Given the description of an element on the screen output the (x, y) to click on. 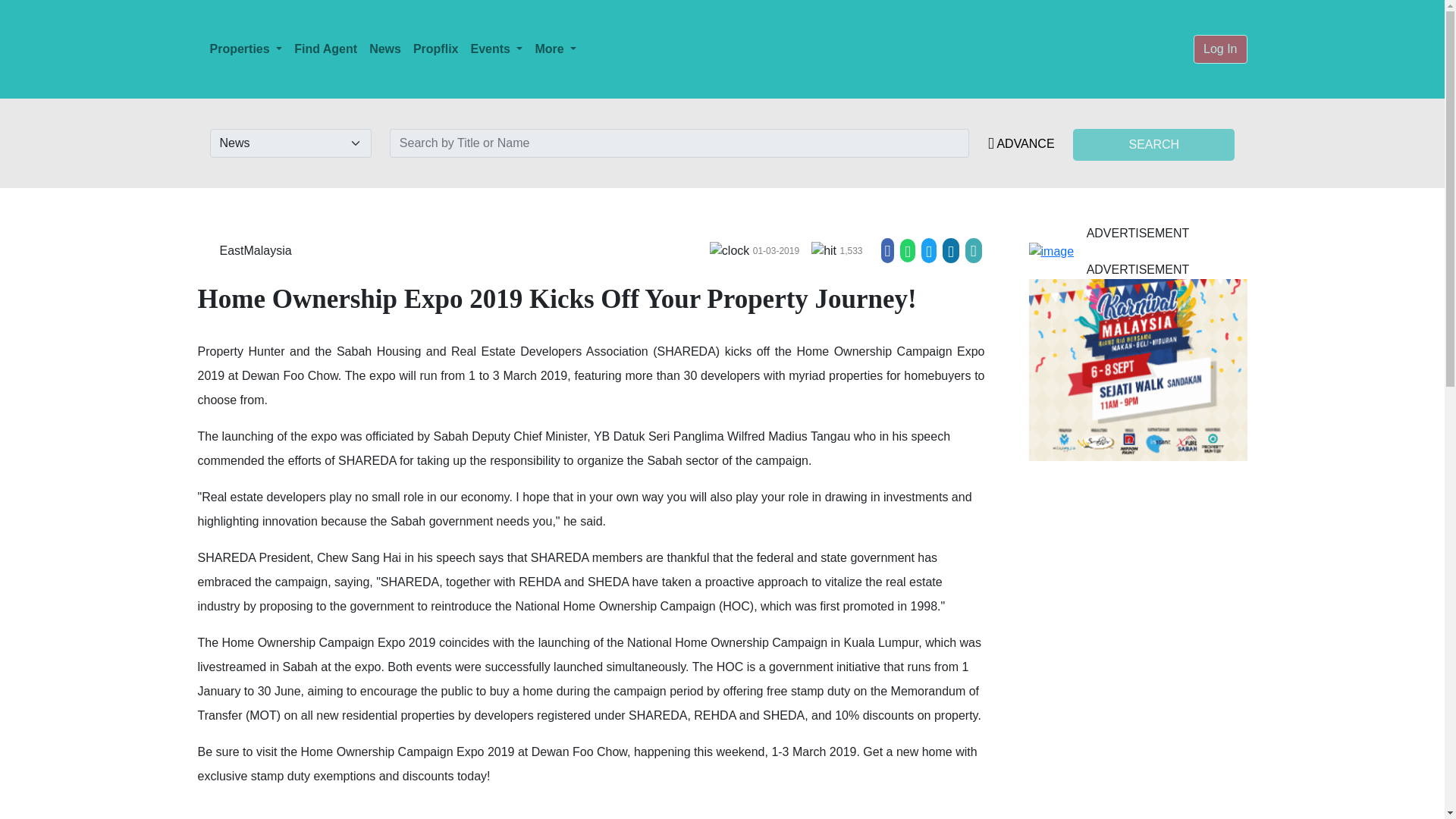
Sidebox (1136, 251)
Sidebox (1136, 370)
Events (496, 49)
Find Agent (325, 49)
More (555, 49)
Propflix (435, 49)
Engagement (822, 250)
News (384, 49)
Properties (245, 49)
1 (729, 250)
